Given the description of an element on the screen output the (x, y) to click on. 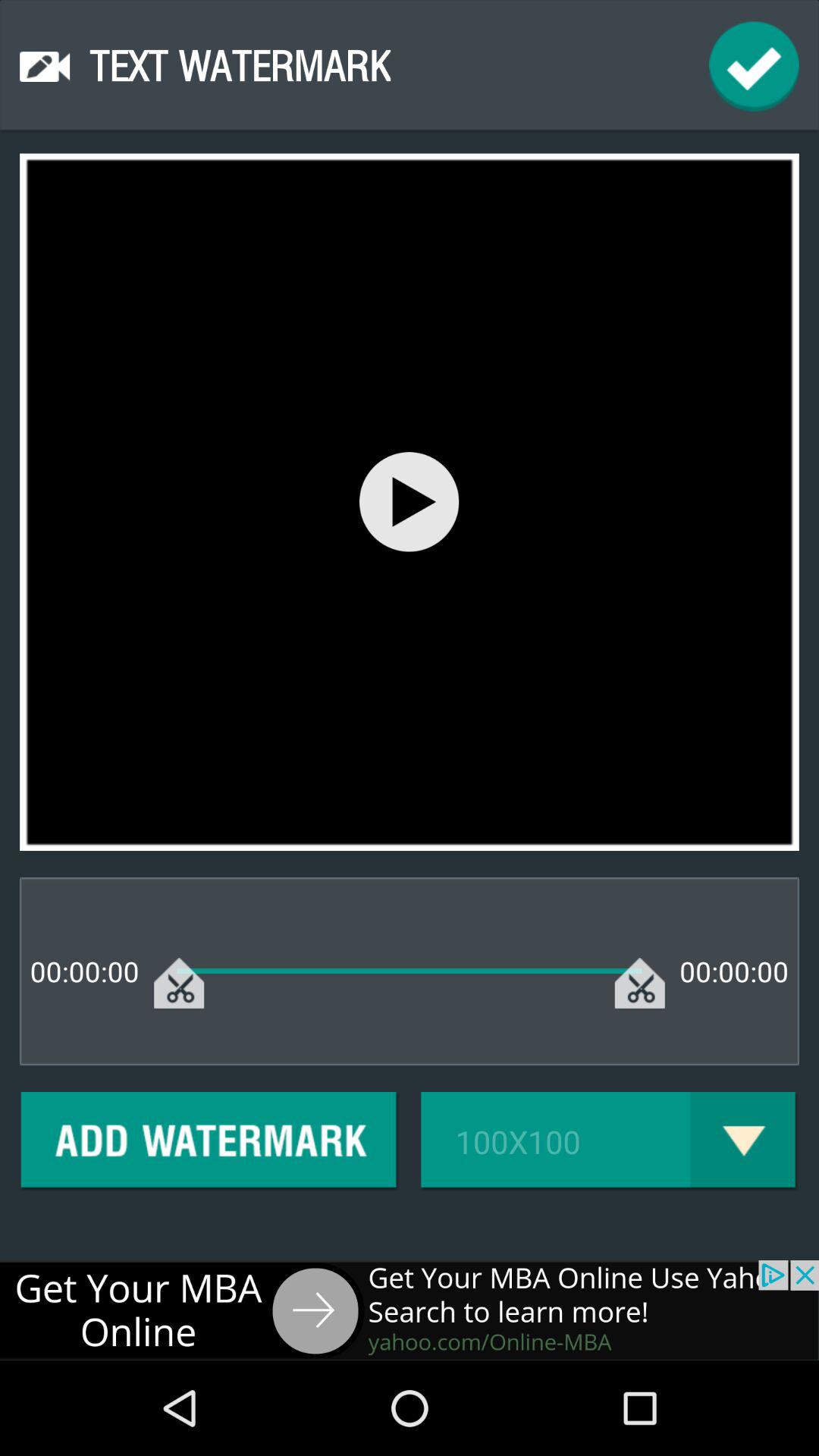
advertisement (409, 1309)
